Given the description of an element on the screen output the (x, y) to click on. 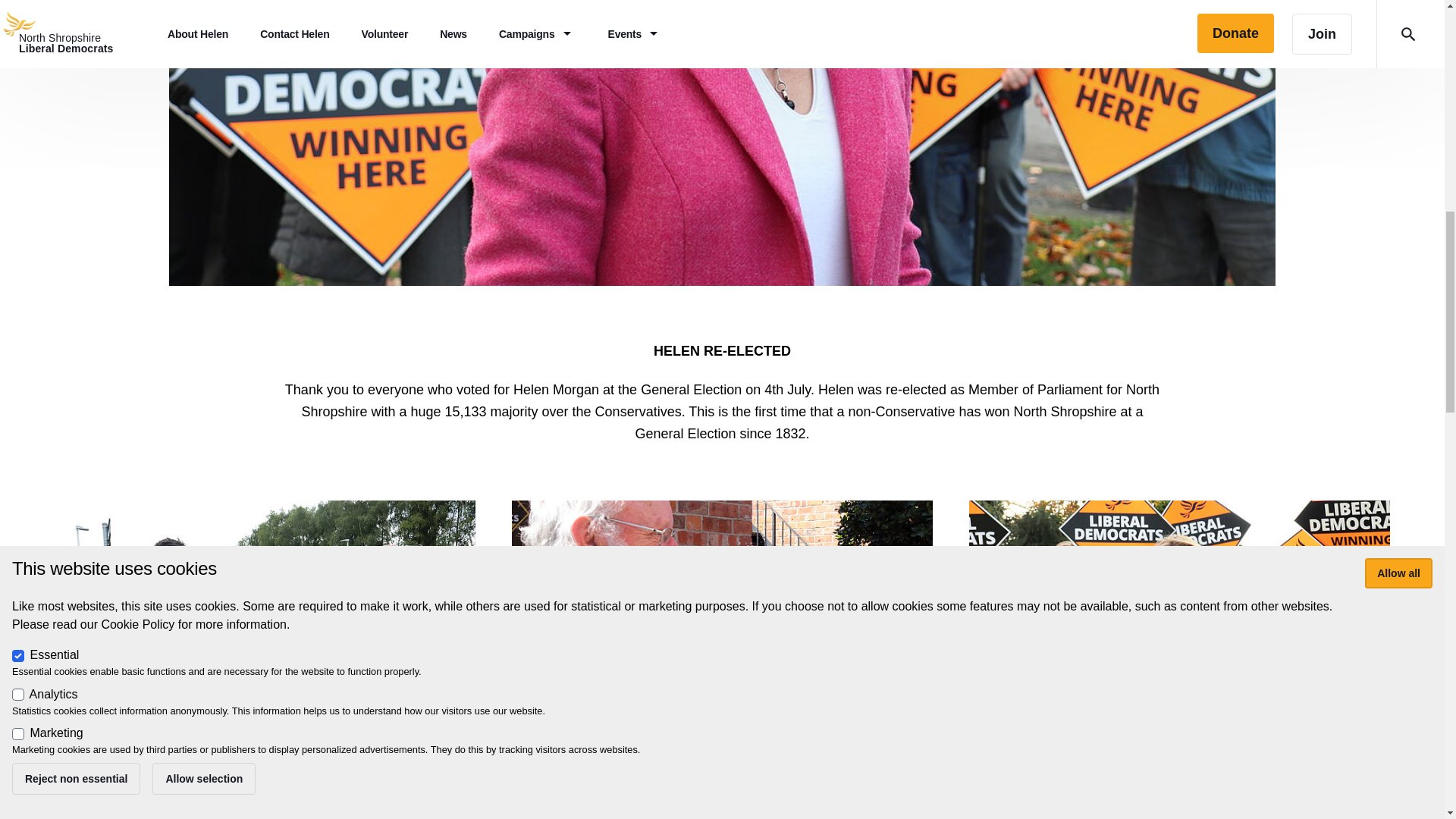
Volunteer (1179, 618)
View (1179, 654)
News (265, 618)
Join Helen's Team (1179, 784)
View (265, 654)
See the latest News from Helen (264, 784)
Sign up to Helen's Weekly Email Updates (722, 784)
View (722, 654)
Weekly Updates (722, 618)
